Given the description of an element on the screen output the (x, y) to click on. 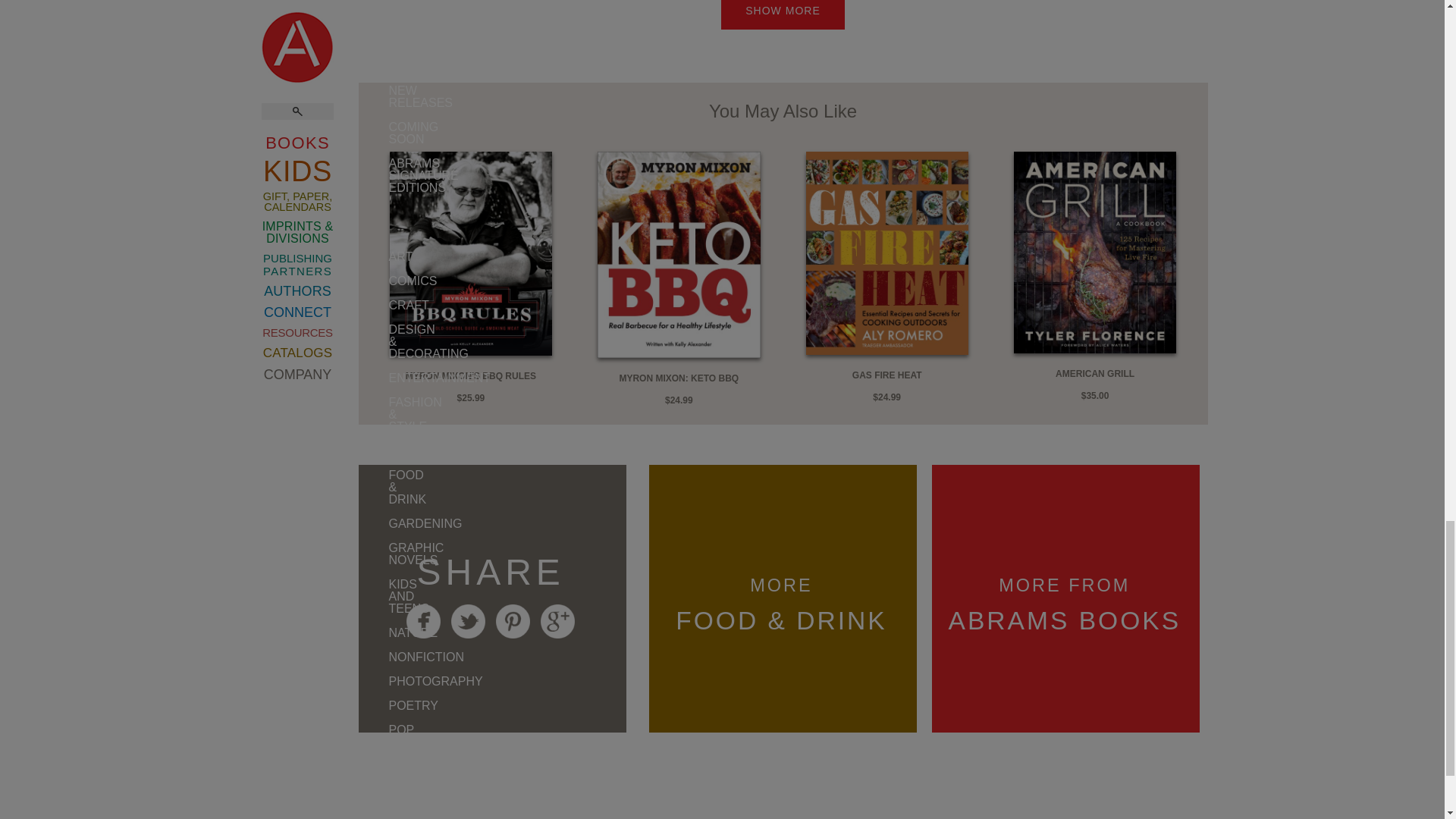
Abrams Fanfare (373, 108)
Coloring Books (373, 503)
Abrams Books for Young Readers (373, 27)
Notebook Sets (373, 564)
Academic Resources (373, 226)
Journals (373, 436)
Amulet Books (373, 72)
Guided Journals (373, 466)
Notebooks (373, 533)
Amulet Books (373, 144)
